Given the description of an element on the screen output the (x, y) to click on. 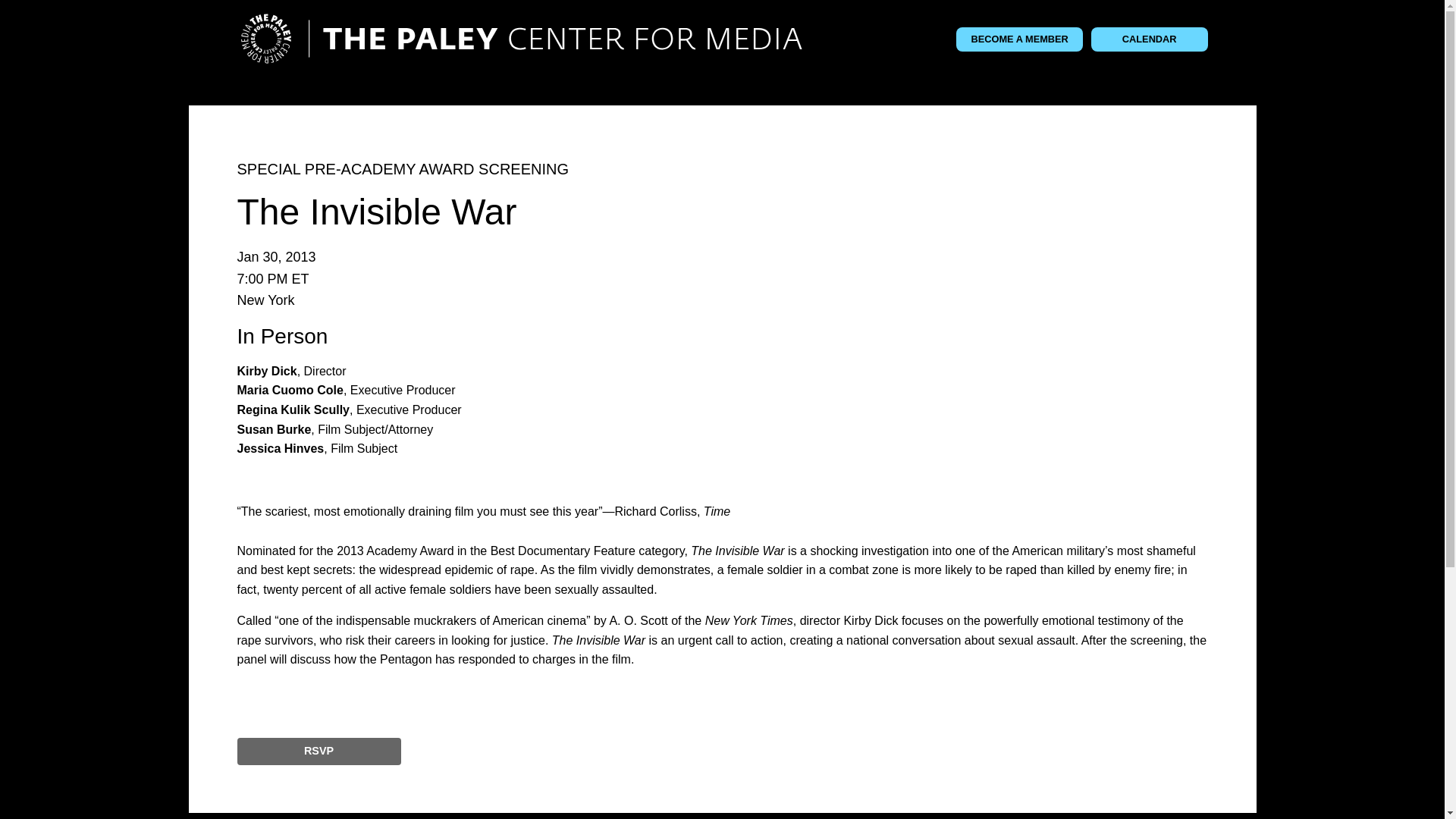
CALENDAR (1149, 39)
RSVP (317, 750)
BECOME A MEMBER (1019, 39)
The Paley Center for Media (520, 38)
